Given the description of an element on the screen output the (x, y) to click on. 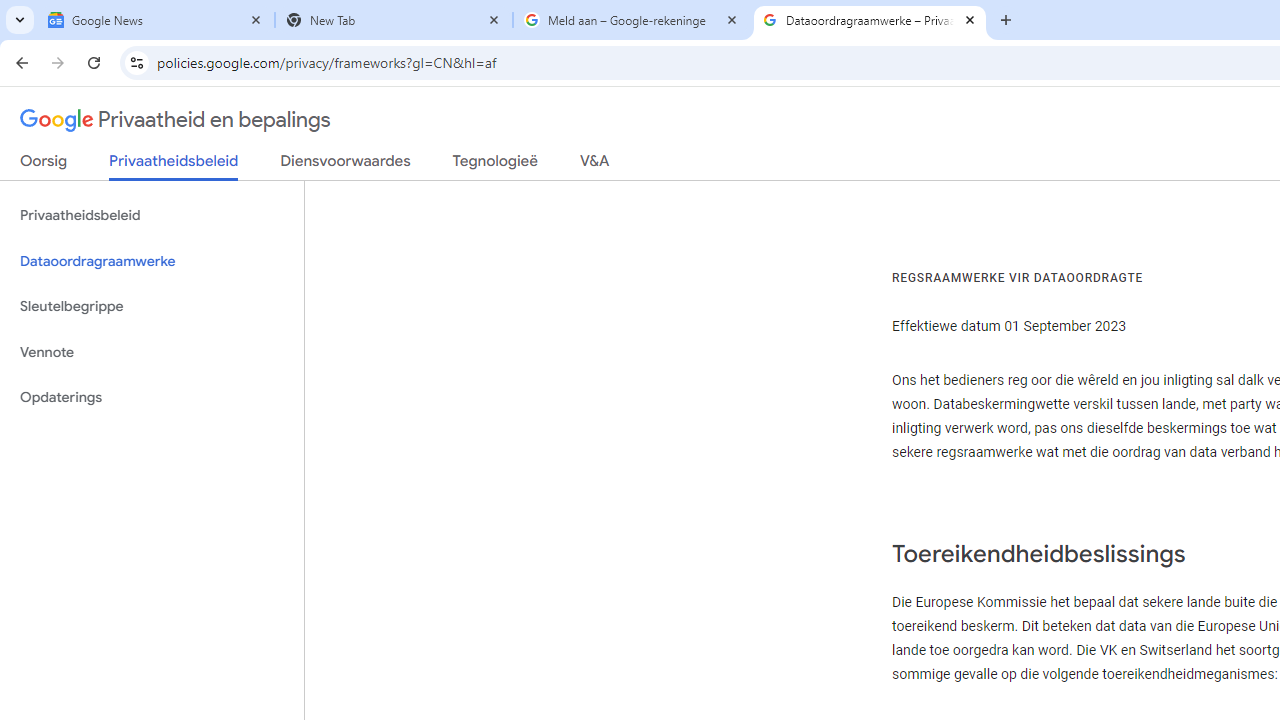
Diensvoorwaardes (345, 165)
Privaatheid en bepalings (175, 120)
Sleutelbegrippe (152, 306)
Google News (156, 20)
